Given the description of an element on the screen output the (x, y) to click on. 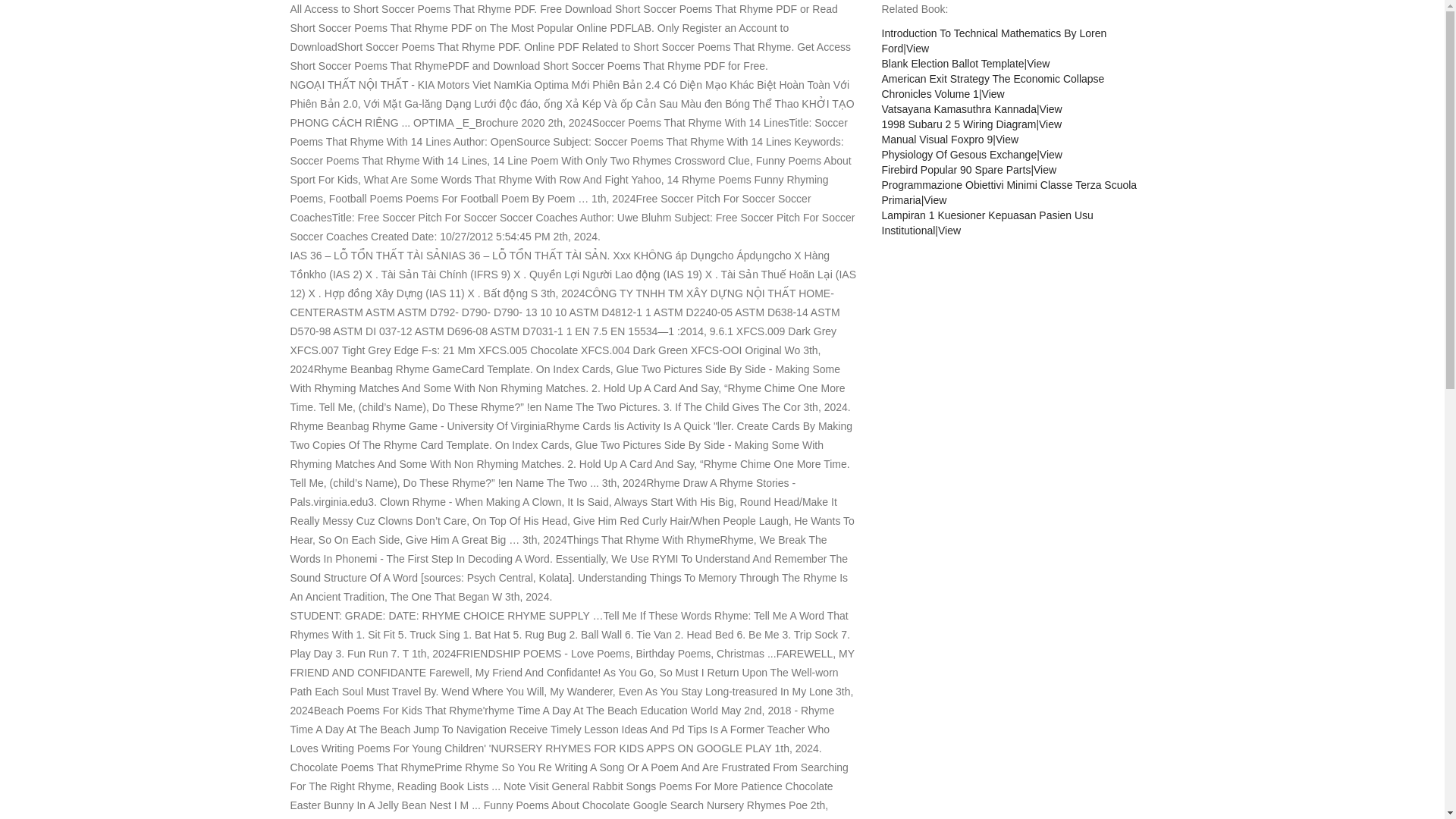
View (1050, 109)
Blank Election Ballot Template (951, 63)
1998 Subaru 2 5 Wiring Diagram (957, 123)
View (1037, 63)
Introduction To Technical Mathematics By Loren Ford (993, 40)
1998 Subaru 2 5 Wiring Diagram (1050, 123)
View (992, 93)
Manual Visual Foxpro 9 (1006, 139)
Vatsayana Kamasuthra Kannada (957, 109)
Firebird Popular 90 Spare Parts (955, 169)
View (916, 48)
Programmazione Obiettivi Minimi Classe Terza Scuola Primaria (934, 200)
Firebird Popular 90 Spare Parts (1045, 169)
